Given the description of an element on the screen output the (x, y) to click on. 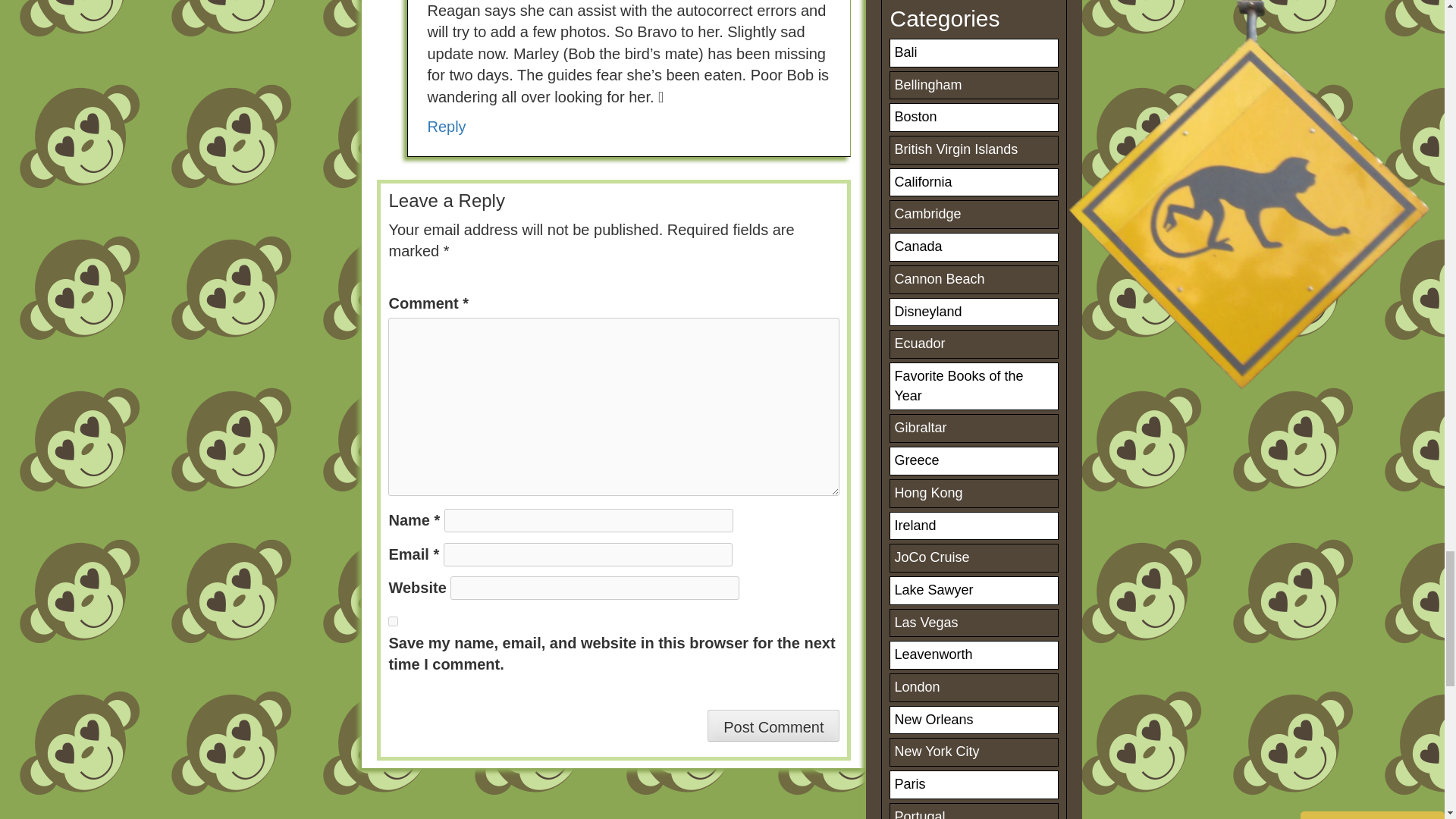
yes (392, 621)
Post Comment (773, 726)
Reply (445, 126)
Post Comment (773, 726)
